Given the description of an element on the screen output the (x, y) to click on. 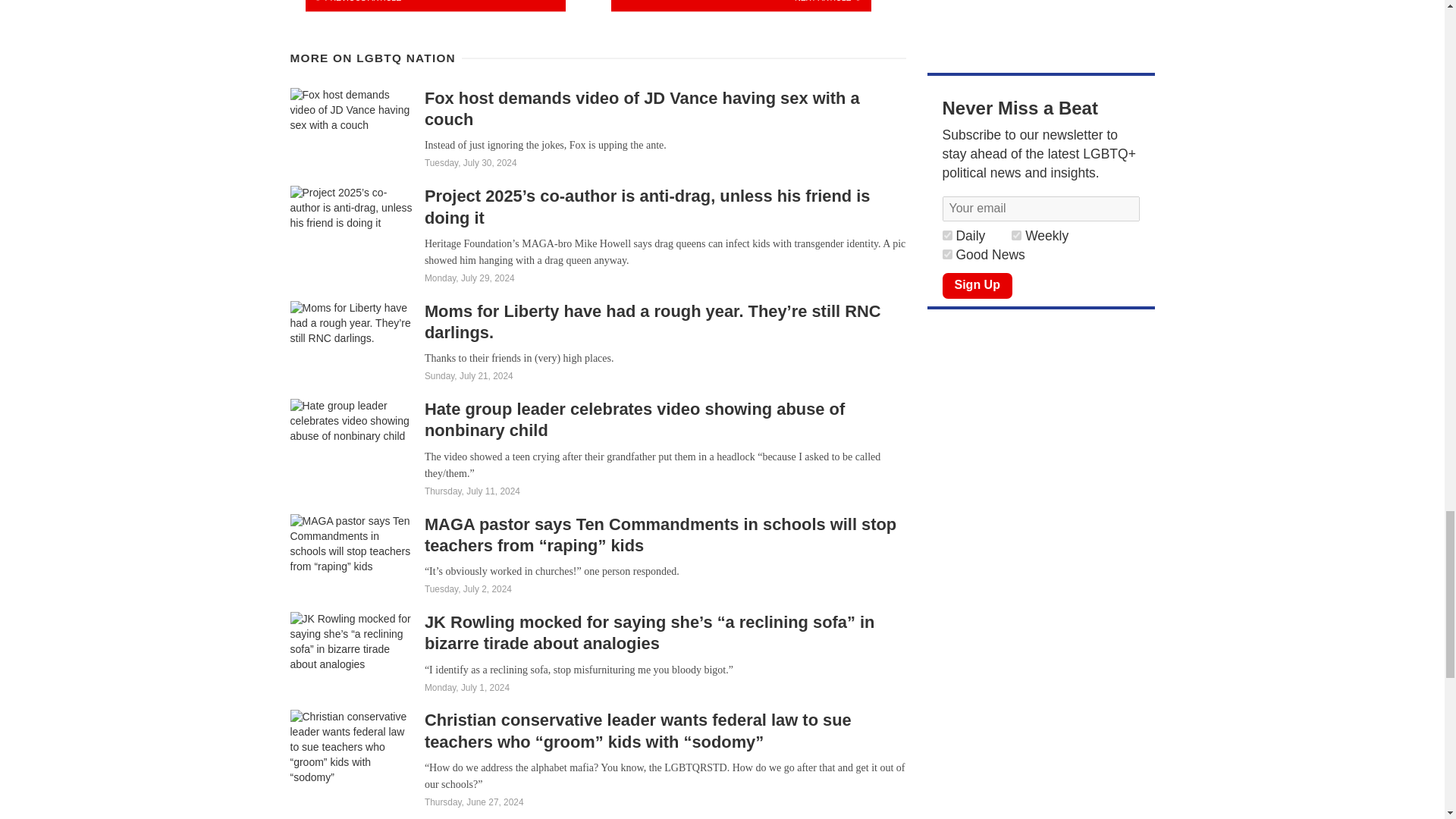
1920885 (947, 235)
Sign Up (976, 285)
1920883 (947, 254)
1920884 (1016, 235)
